Given the description of an element on the screen output the (x, y) to click on. 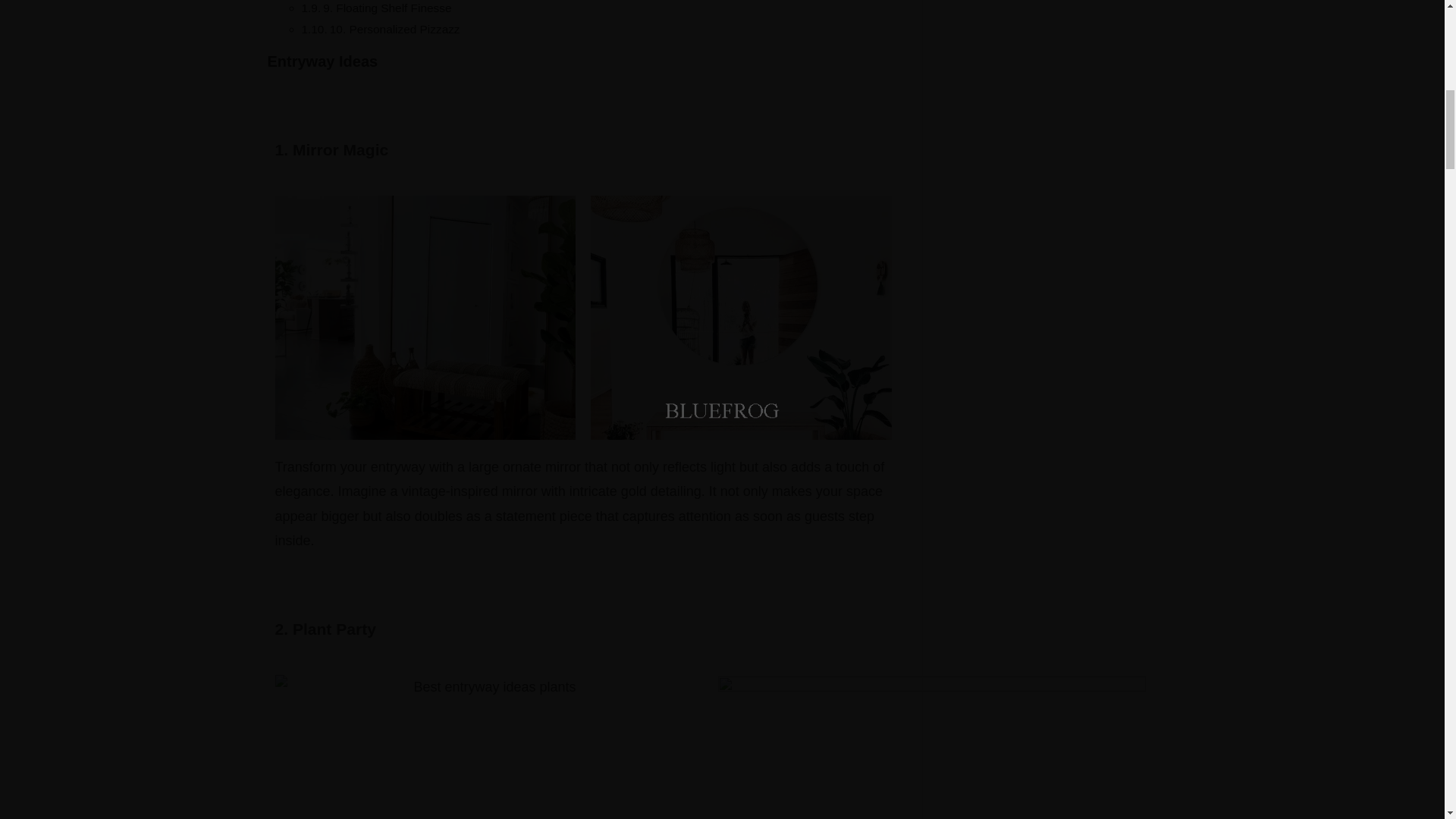
9. Floating Shelf Finesse (387, 7)
9. Floating Shelf Finesse (387, 7)
10. Personalized Pizzazz (395, 29)
